Given the description of an element on the screen output the (x, y) to click on. 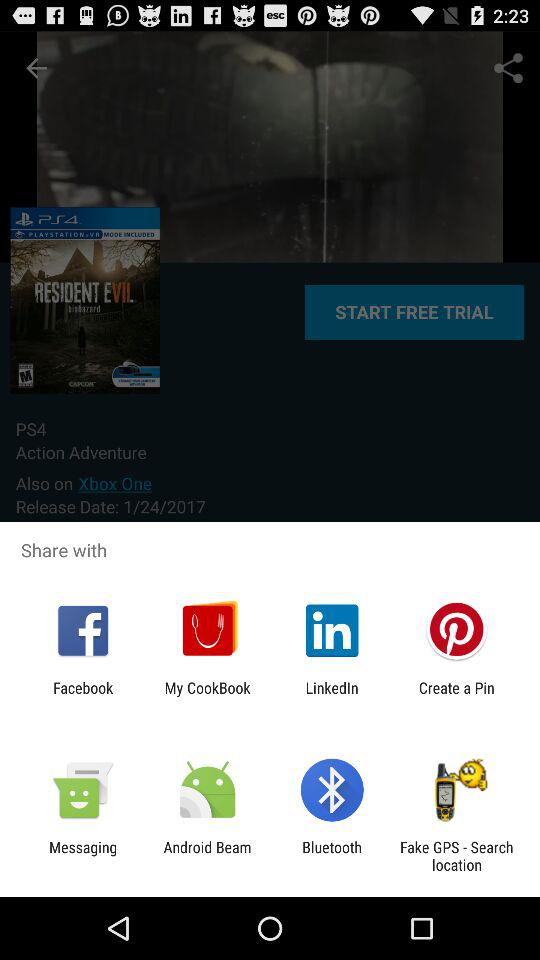
select the icon next to the android beam icon (83, 856)
